Given the description of an element on the screen output the (x, y) to click on. 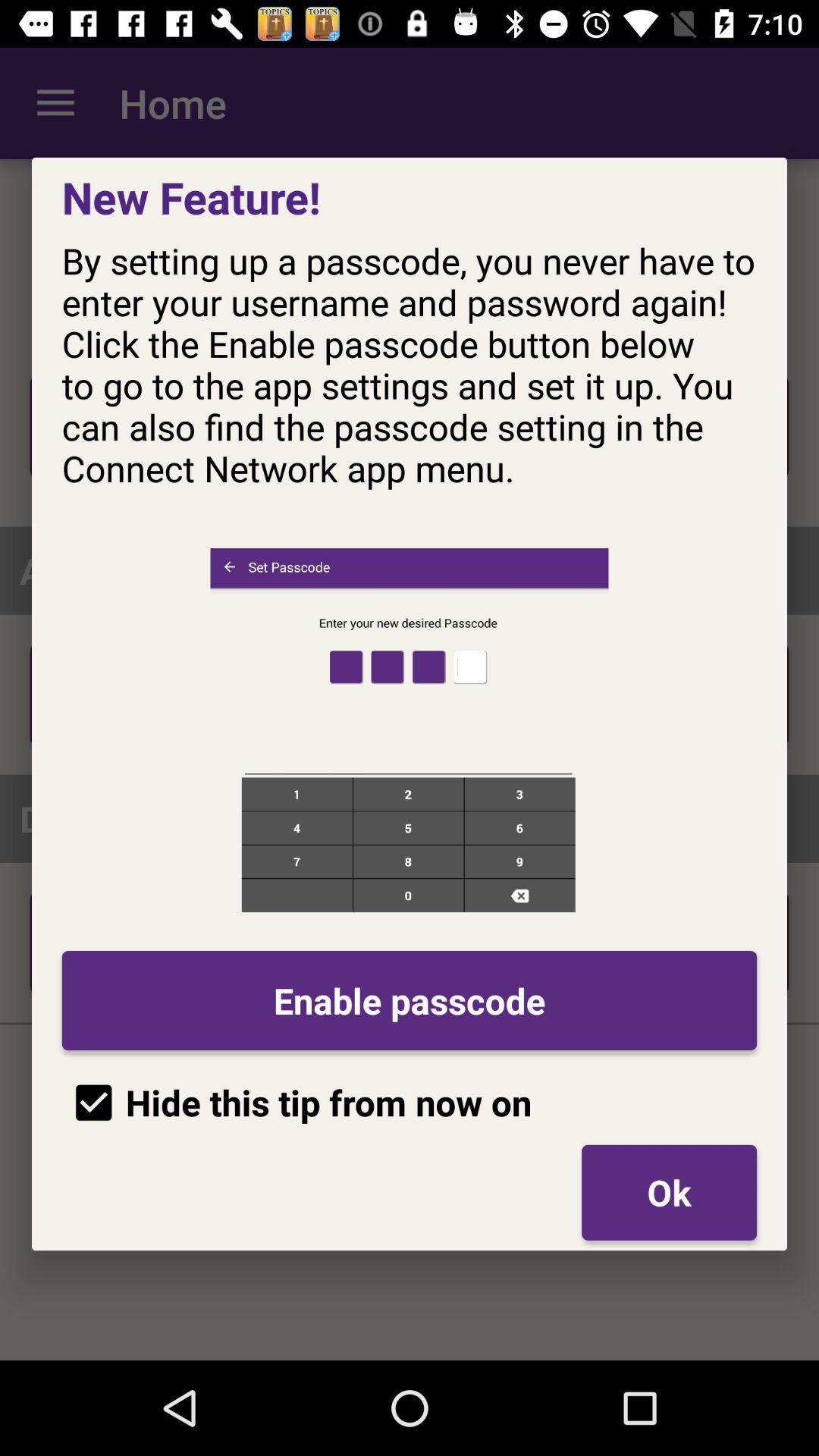
choose the item at the bottom right corner (669, 1192)
